Given the description of an element on the screen output the (x, y) to click on. 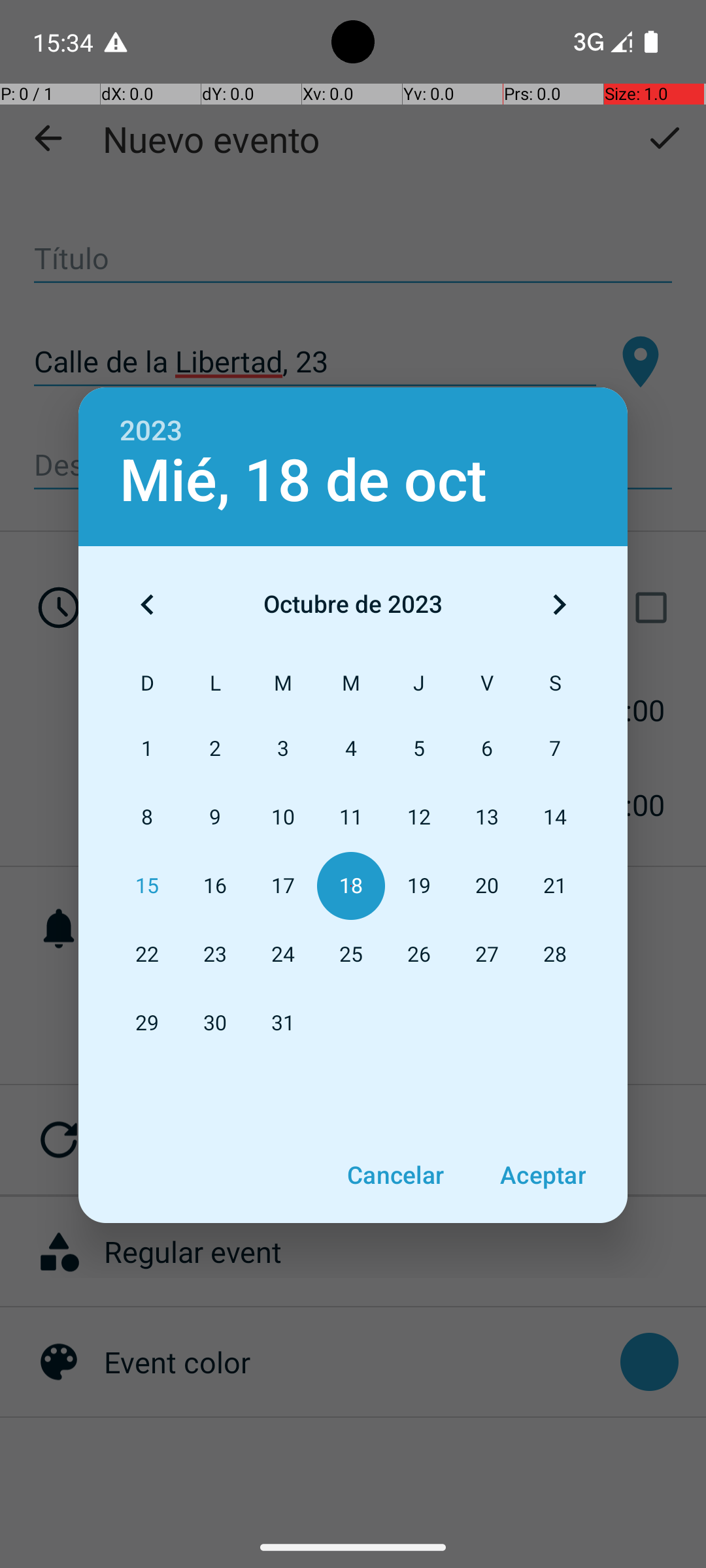
Mié, 18 de oct Element type: android.widget.TextView (303, 480)
Mes anterior Element type: android.widget.ImageButton (146, 604)
Mes siguiente Element type: android.widget.ImageButton (558, 604)
Cancelar Element type: android.widget.Button (394, 1174)
